Given the description of an element on the screen output the (x, y) to click on. 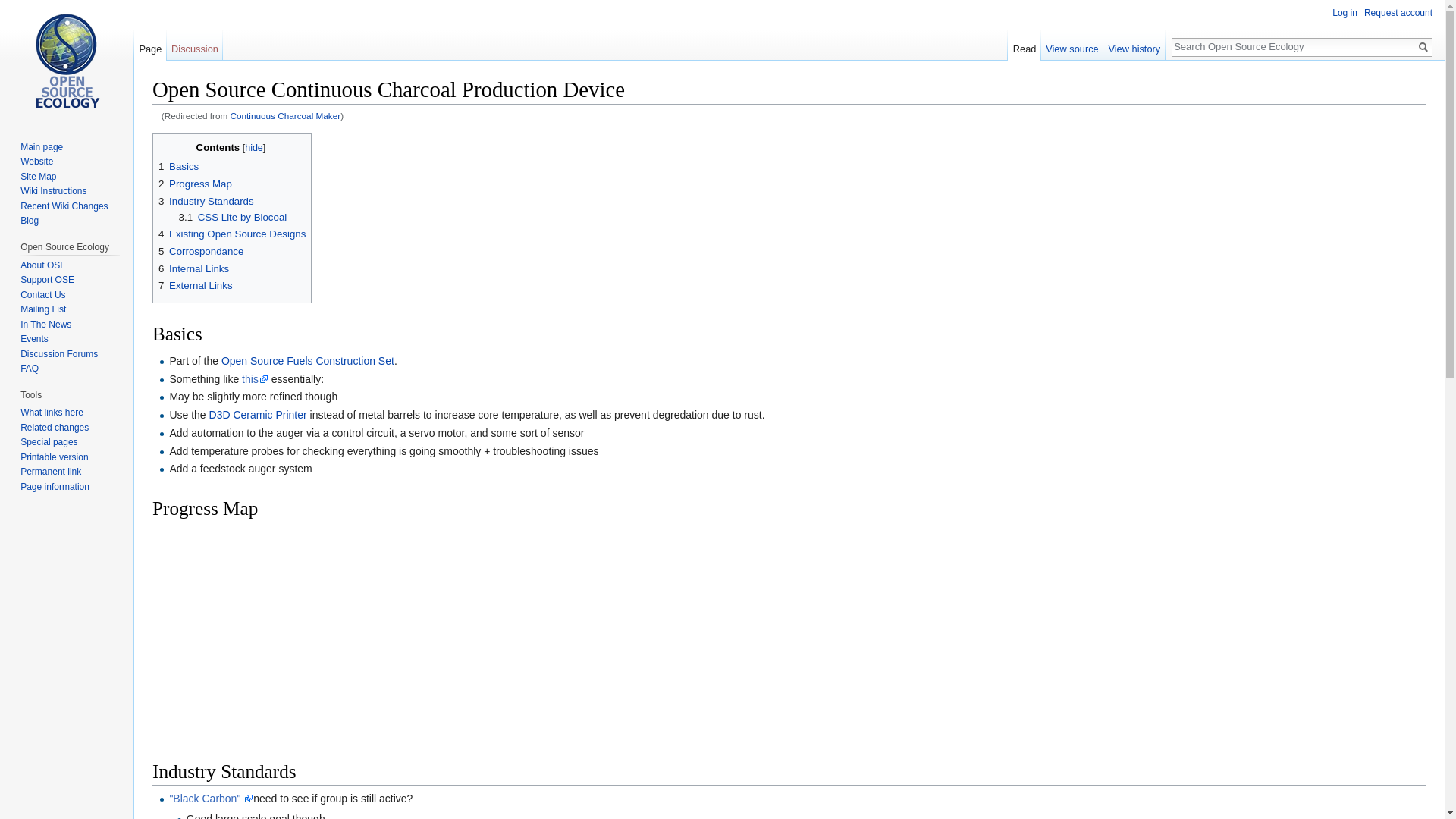
View source (1072, 45)
3 Industry Standards (205, 201)
Log in (1344, 12)
Go (1423, 46)
3.1 CSS Lite by Biocoal (232, 216)
Discussion (195, 45)
D3D Ceramic Printer (258, 414)
Open Source Fuels Construction Set (307, 360)
6 Internal Links (193, 268)
